Given the description of an element on the screen output the (x, y) to click on. 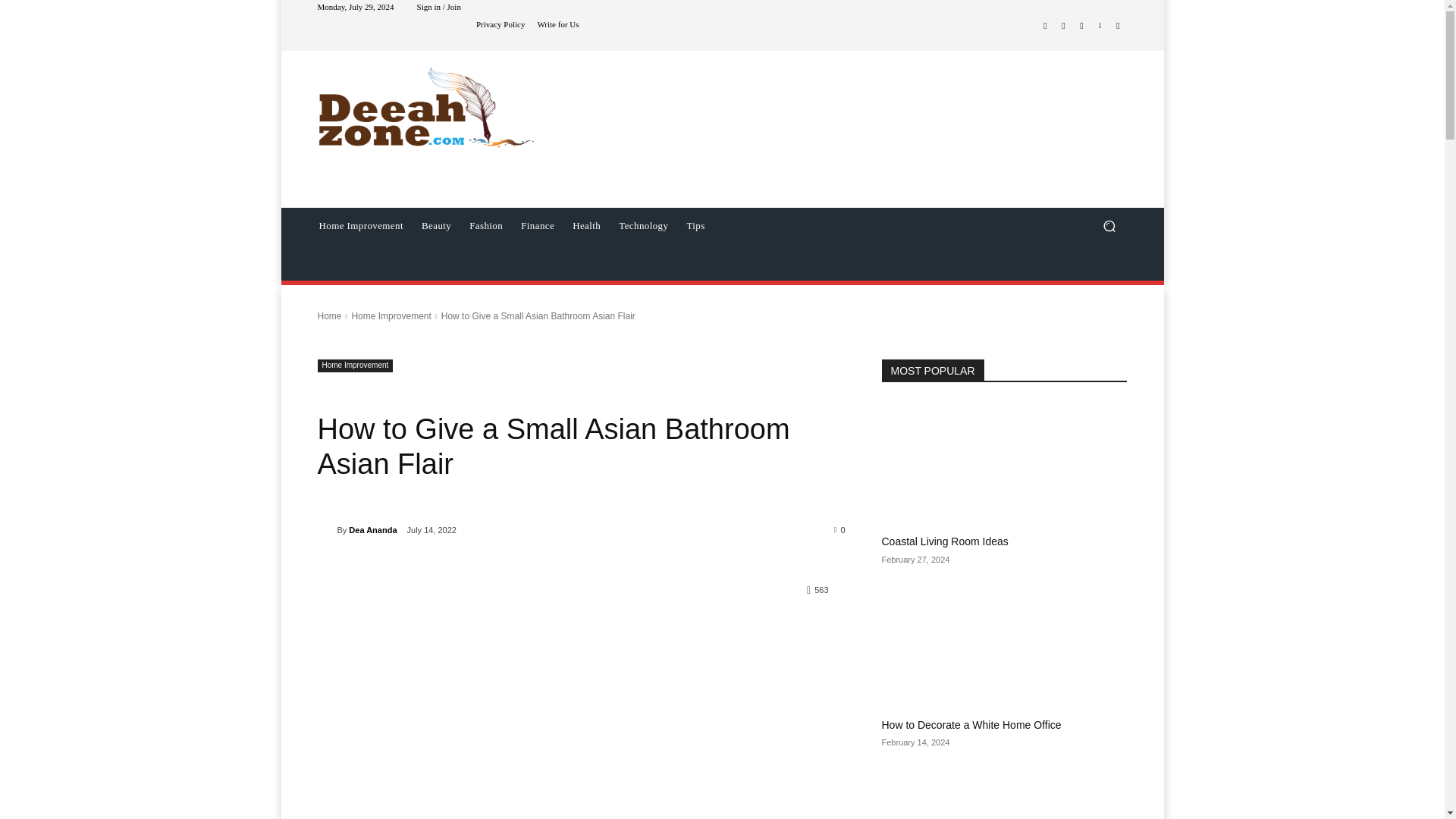
Privacy Policy (500, 24)
Finance (537, 226)
Fashion (486, 226)
Dea Ananda (326, 529)
Write for Us (557, 24)
Vimeo (1099, 25)
Twitter (1080, 25)
Health (586, 226)
Beauty (436, 226)
Tips (695, 226)
Home Improvement (360, 226)
Facebook (1044, 25)
Youtube (1117, 25)
Technology (643, 226)
Instagram (1062, 25)
